Given the description of an element on the screen output the (x, y) to click on. 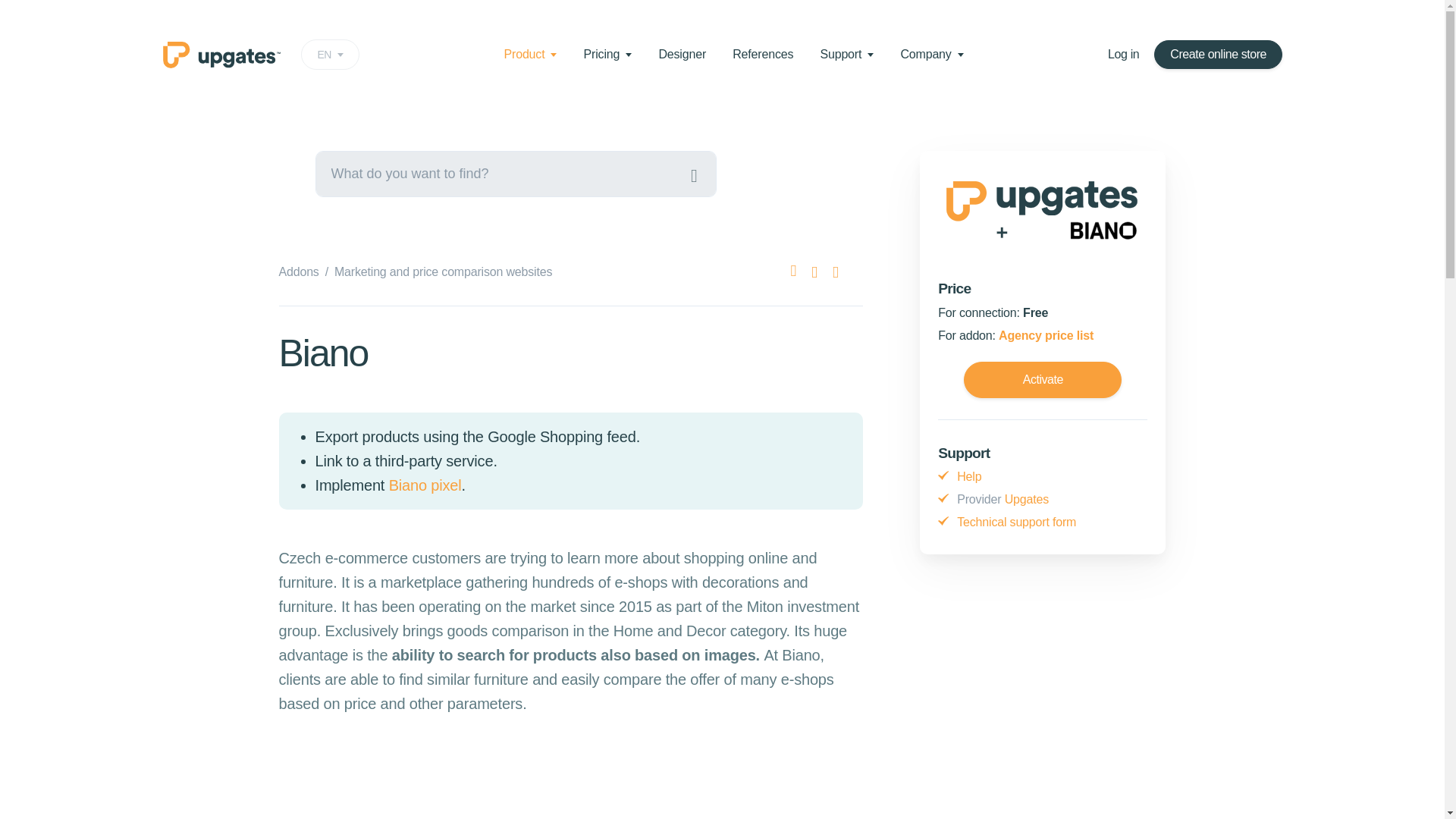
Company (931, 53)
Designer (682, 53)
Create online store (1218, 54)
Product (330, 54)
Marketing and price comparison websites (530, 53)
Pricing (442, 271)
Addons (607, 53)
References (298, 271)
Biano pixel (762, 53)
Log in (424, 484)
Support (1123, 53)
